Given the description of an element on the screen output the (x, y) to click on. 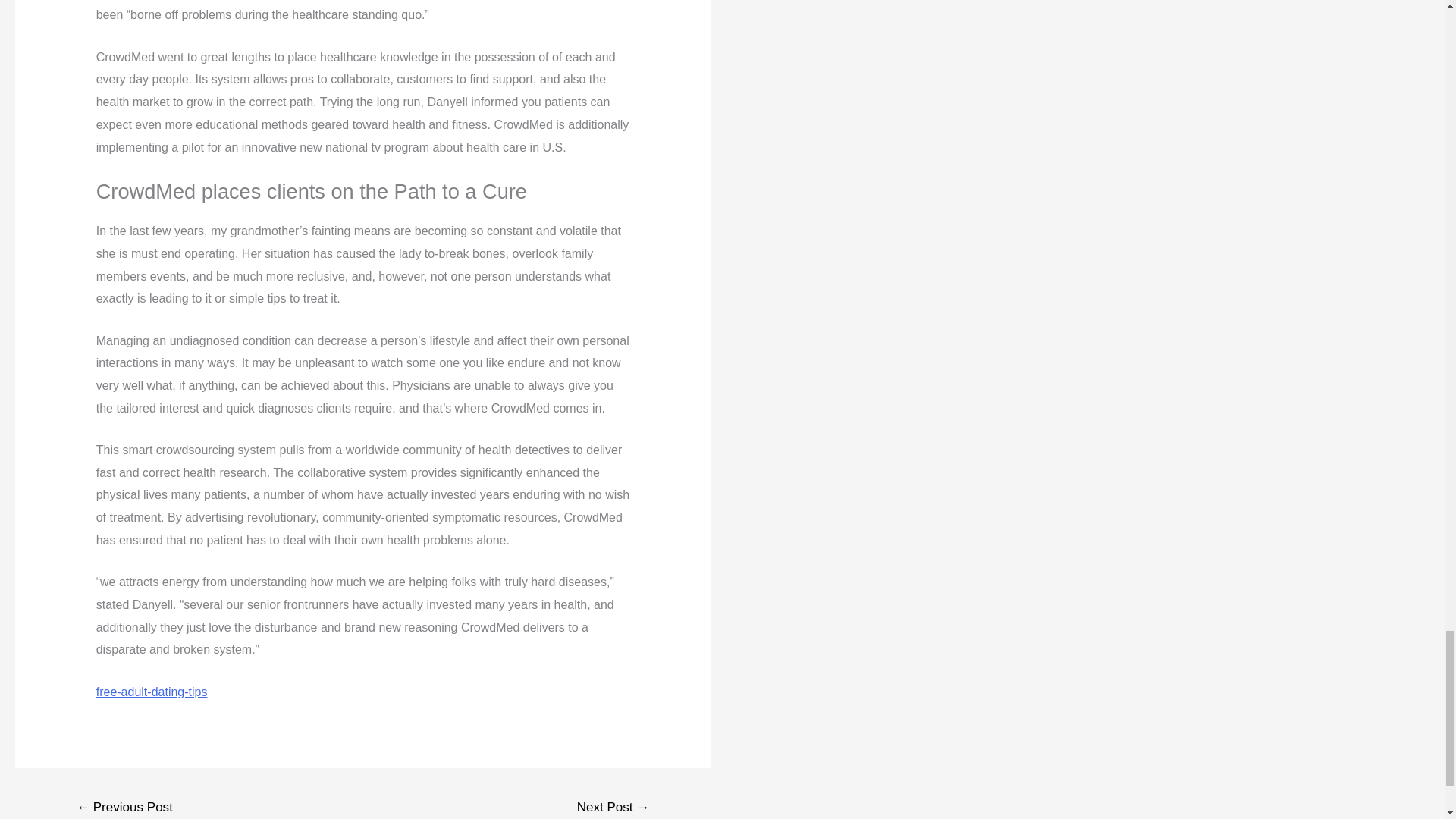
free-adult-dating-tips (152, 691)
